Given the description of an element on the screen output the (x, y) to click on. 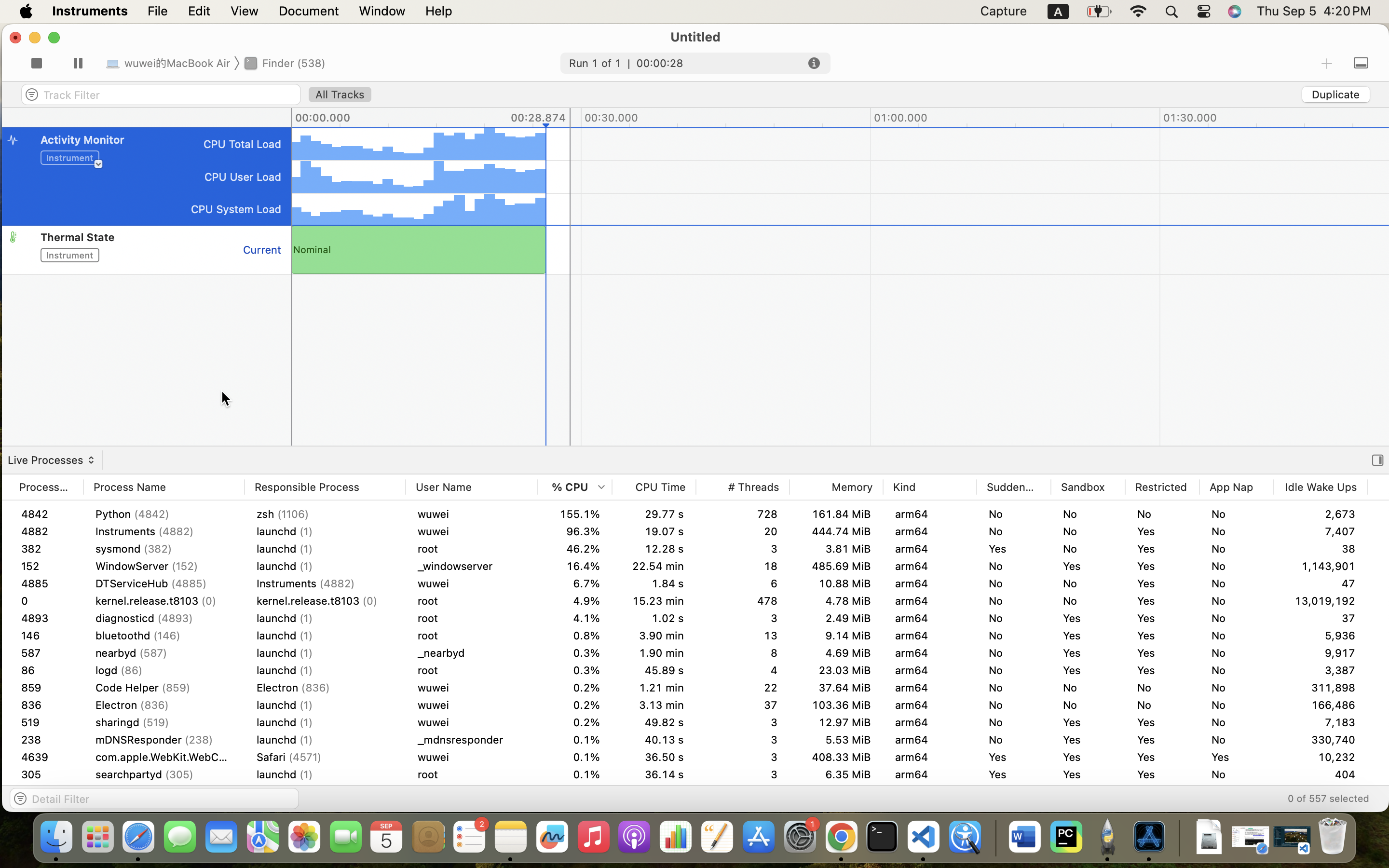
wuwei Element type: AXStaticText (471, 652)
51 Element type: AXSplitter (146, 274)
19.8% Element type: AXStaticText (574, 565)
152 Element type: AXStaticText (46, 565)
16.48 s Element type: AXStaticText (653, 670)
